Given the description of an element on the screen output the (x, y) to click on. 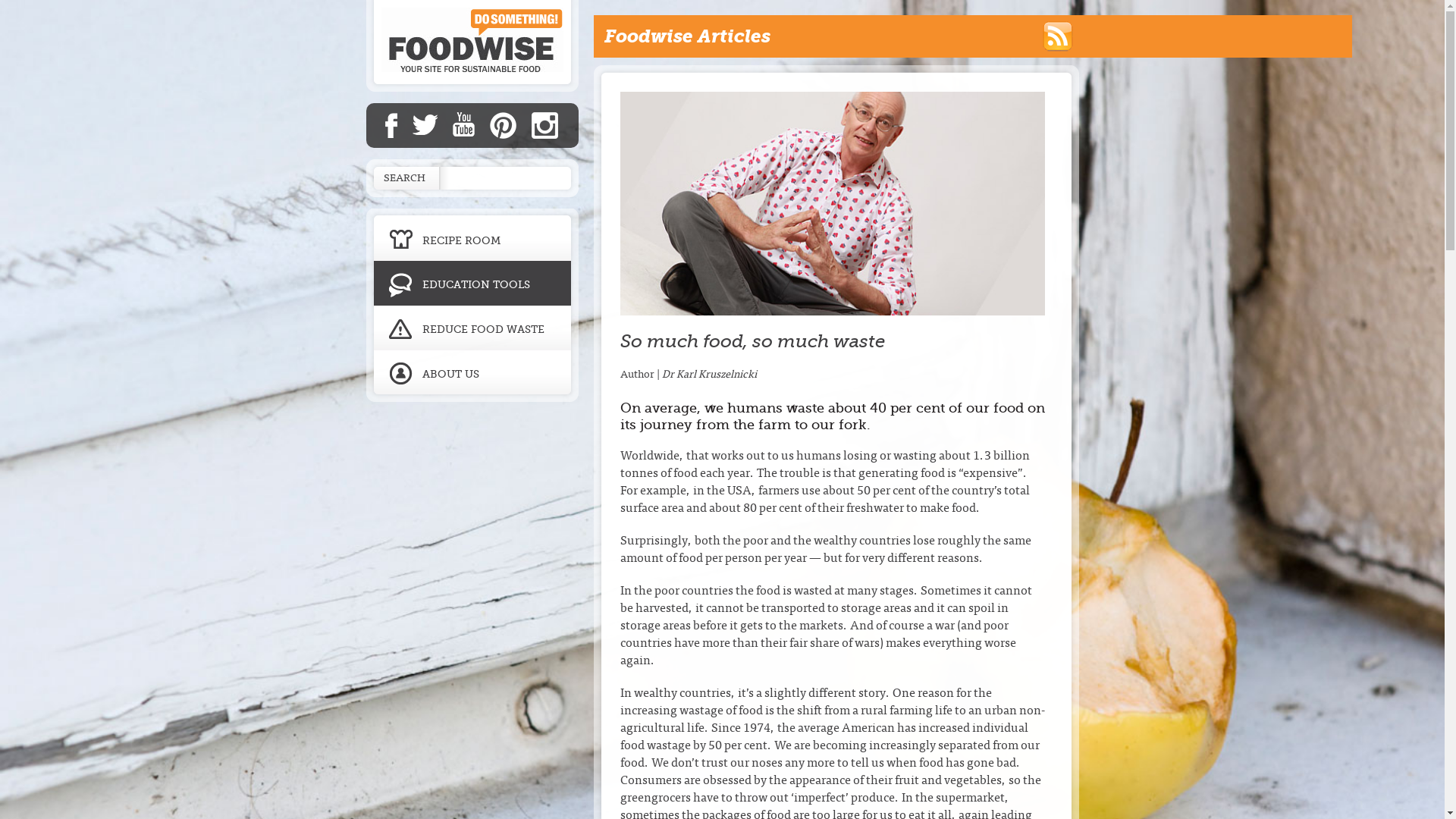
REDUCE FOOD WASTE Element type: text (471, 327)
Facebook Element type: text (391, 125)
YouTube Element type: text (462, 124)
EDUCATION TOOLS Element type: text (471, 282)
Dr Karl banner Element type: hover (832, 203)
Instagram Element type: text (543, 125)
Twitter Element type: text (424, 125)
Pinterest Element type: text (502, 125)
ABOUT US Element type: text (471, 376)
RECIPE ROOM Element type: text (471, 234)
